Given the description of an element on the screen output the (x, y) to click on. 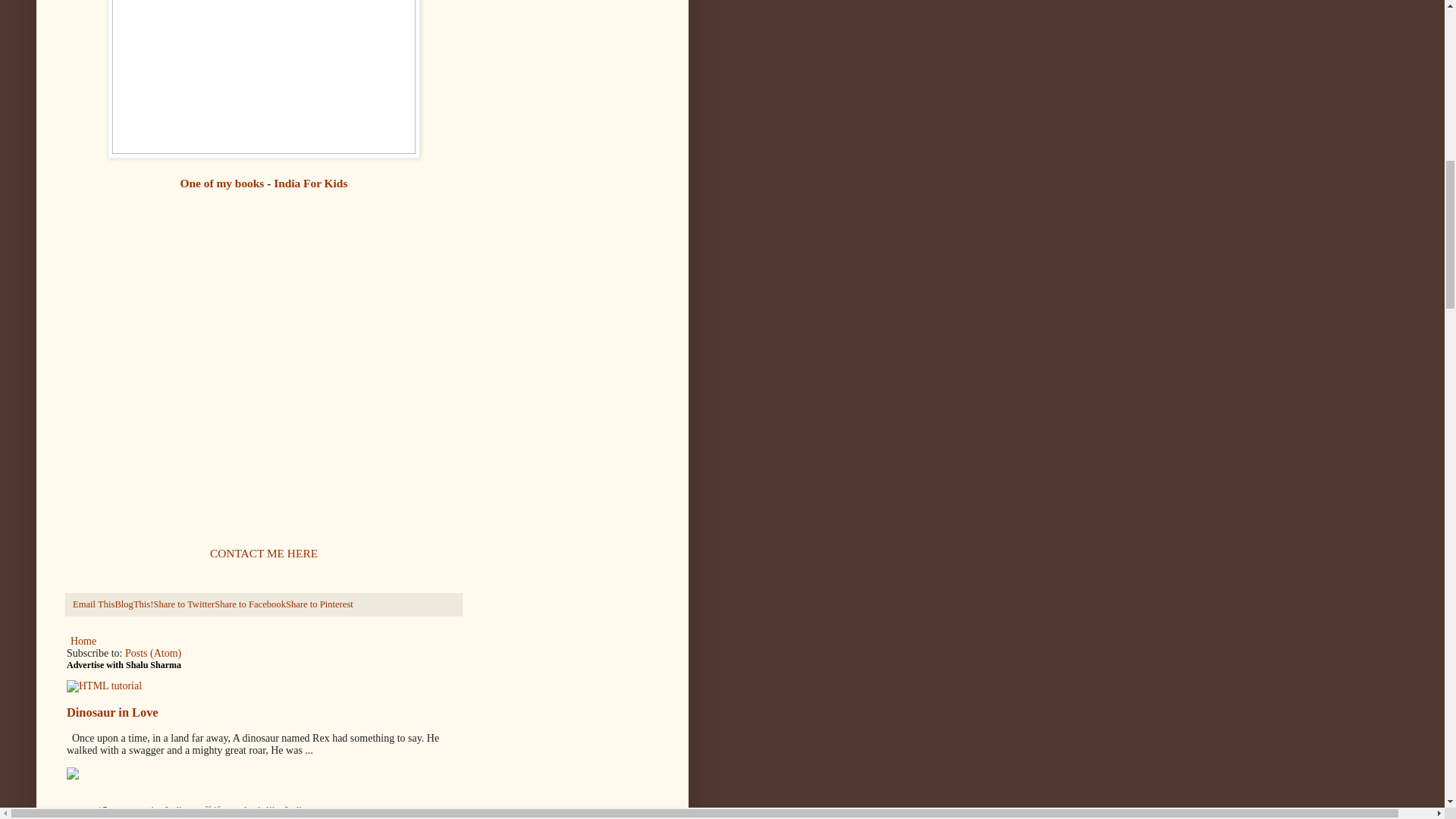
Email This (93, 603)
BlogThis! (133, 603)
BlogThis! (133, 603)
Share to Facebook (249, 603)
Home (83, 640)
Share to Twitter (183, 603)
Share to Facebook (249, 603)
Dinosaur in Love (112, 712)
Share to Twitter (183, 603)
Share to Pinterest (319, 603)
